Given the description of an element on the screen output the (x, y) to click on. 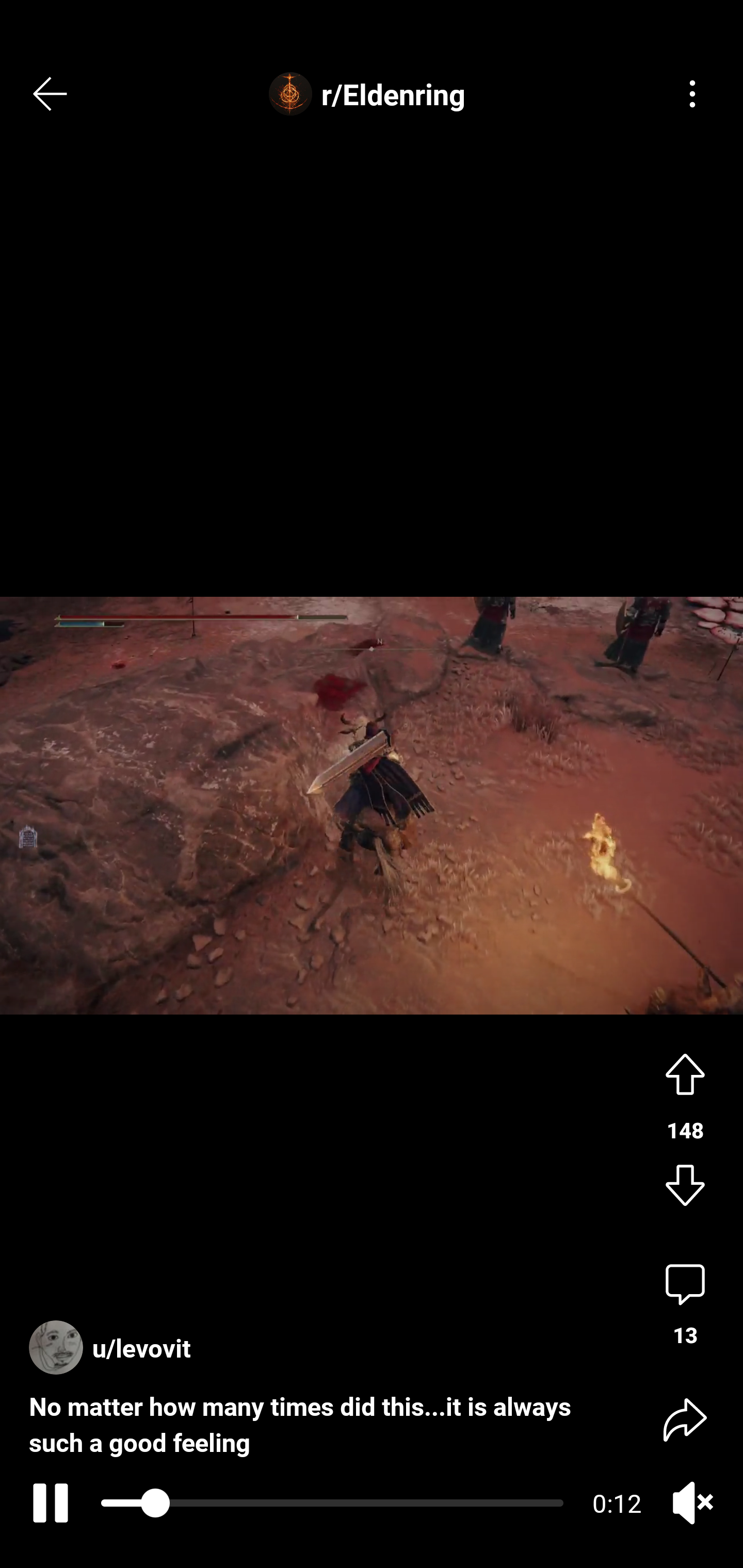
Back (50, 93)
r slash Eldenring (371, 93)
More options (692, 93)
Upvote this post (684, 1071)
Downvote this post (684, 1187)
13 comments (684, 1305)
levovit, post creator (113, 1338)
Share this post (684, 1417)
Pause (46, 1502)
Unmute (692, 1502)
